Given the description of an element on the screen output the (x, y) to click on. 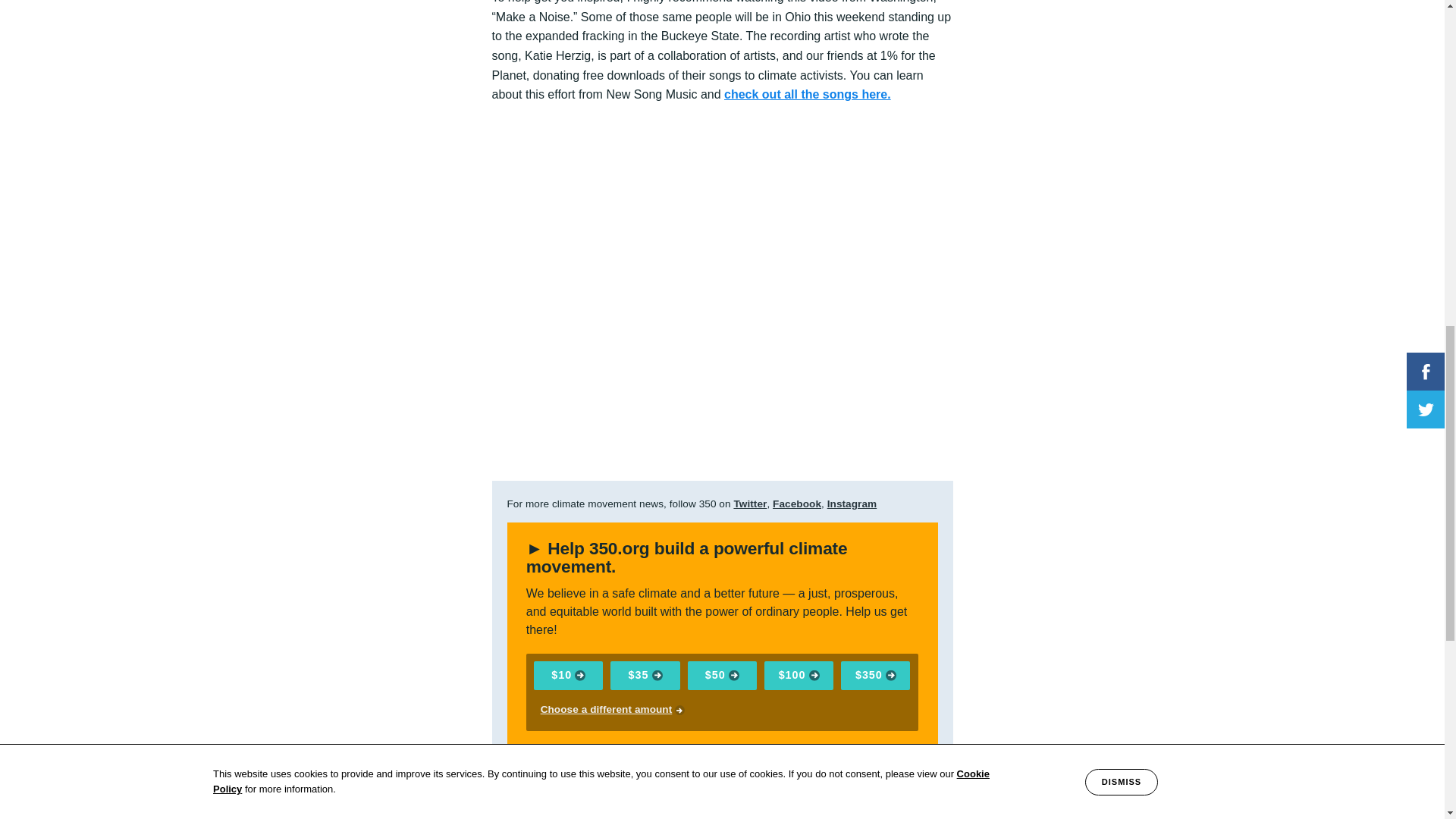
Instagram (852, 503)
Facebook (797, 503)
Twitter (750, 503)
check out all the songs here. (807, 93)
